Given the description of an element on the screen output the (x, y) to click on. 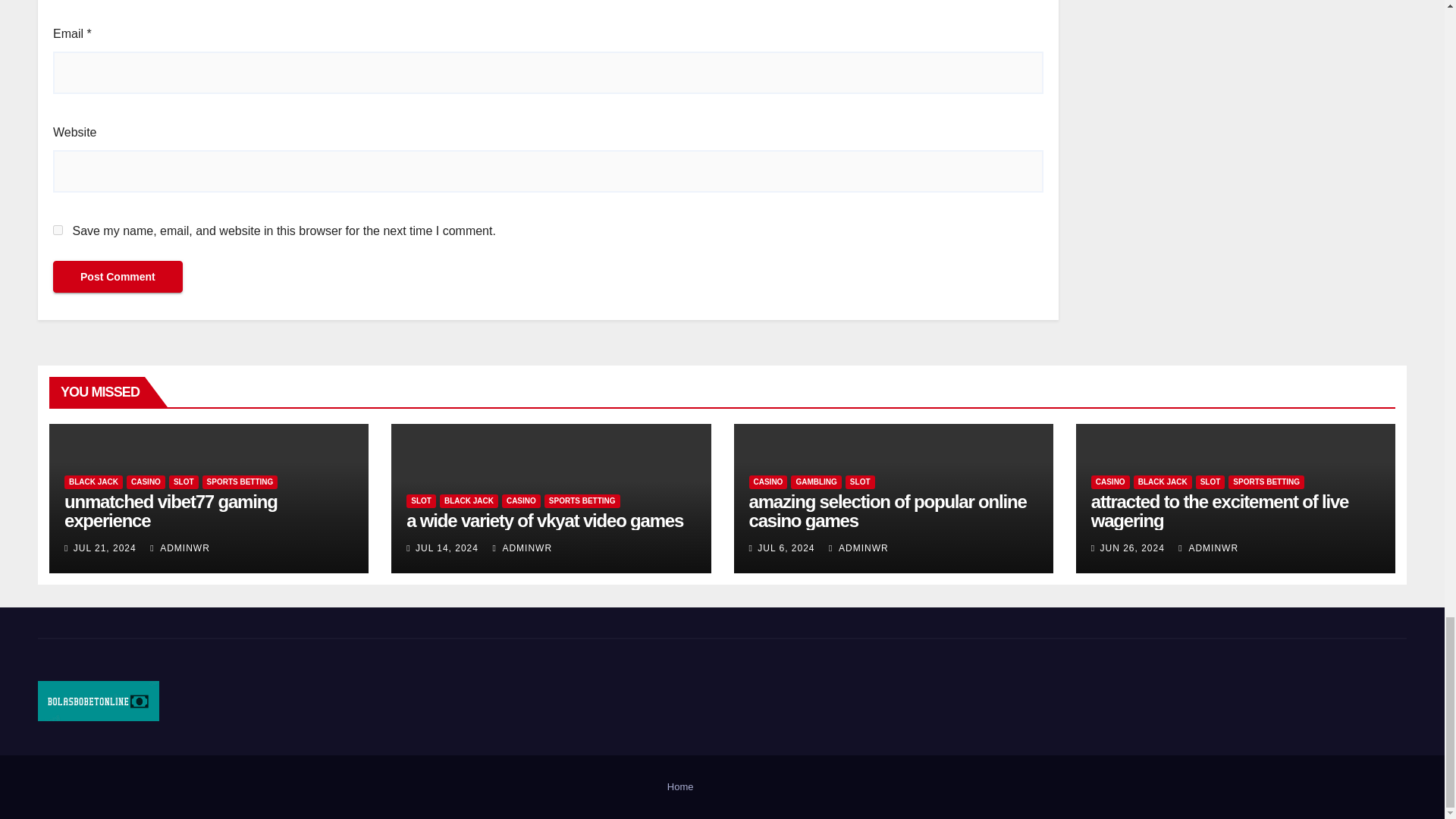
Post Comment (117, 276)
Permalink to: unmatched vibet77 gaming experience (171, 510)
Permalink to: a wide variety of vkyat video games (544, 520)
yes (57, 230)
